Given the description of an element on the screen output the (x, y) to click on. 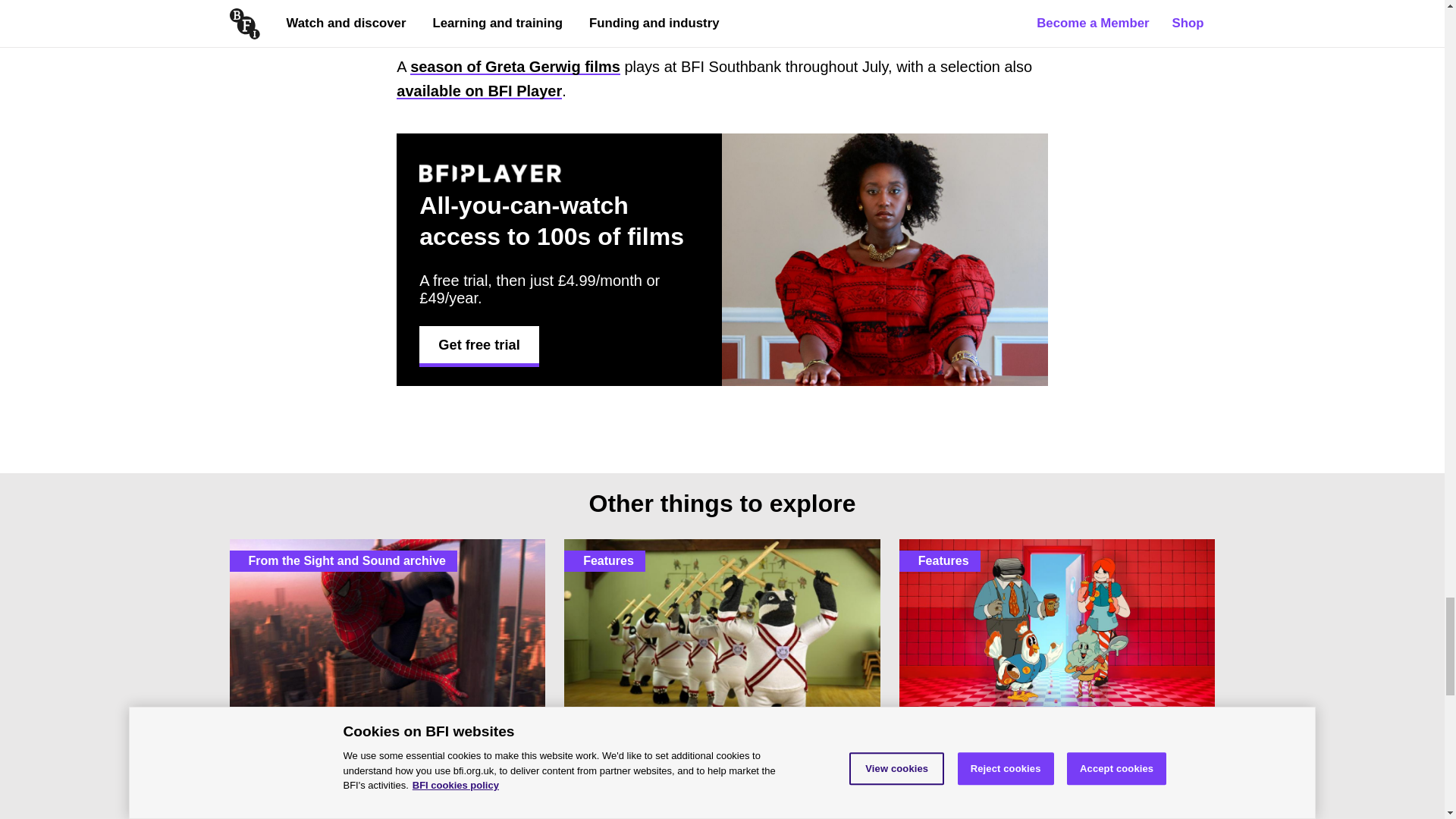
Read From the archive: can Spider-Man do the comics justice? (386, 678)
Get free trial (478, 344)
Read Stop motion shorts: 7 of the best on BFI Player (722, 678)
season of Greta Gerwig films (515, 66)
available on BFI Player (479, 90)
Get free trial (478, 344)
